Given the description of an element on the screen output the (x, y) to click on. 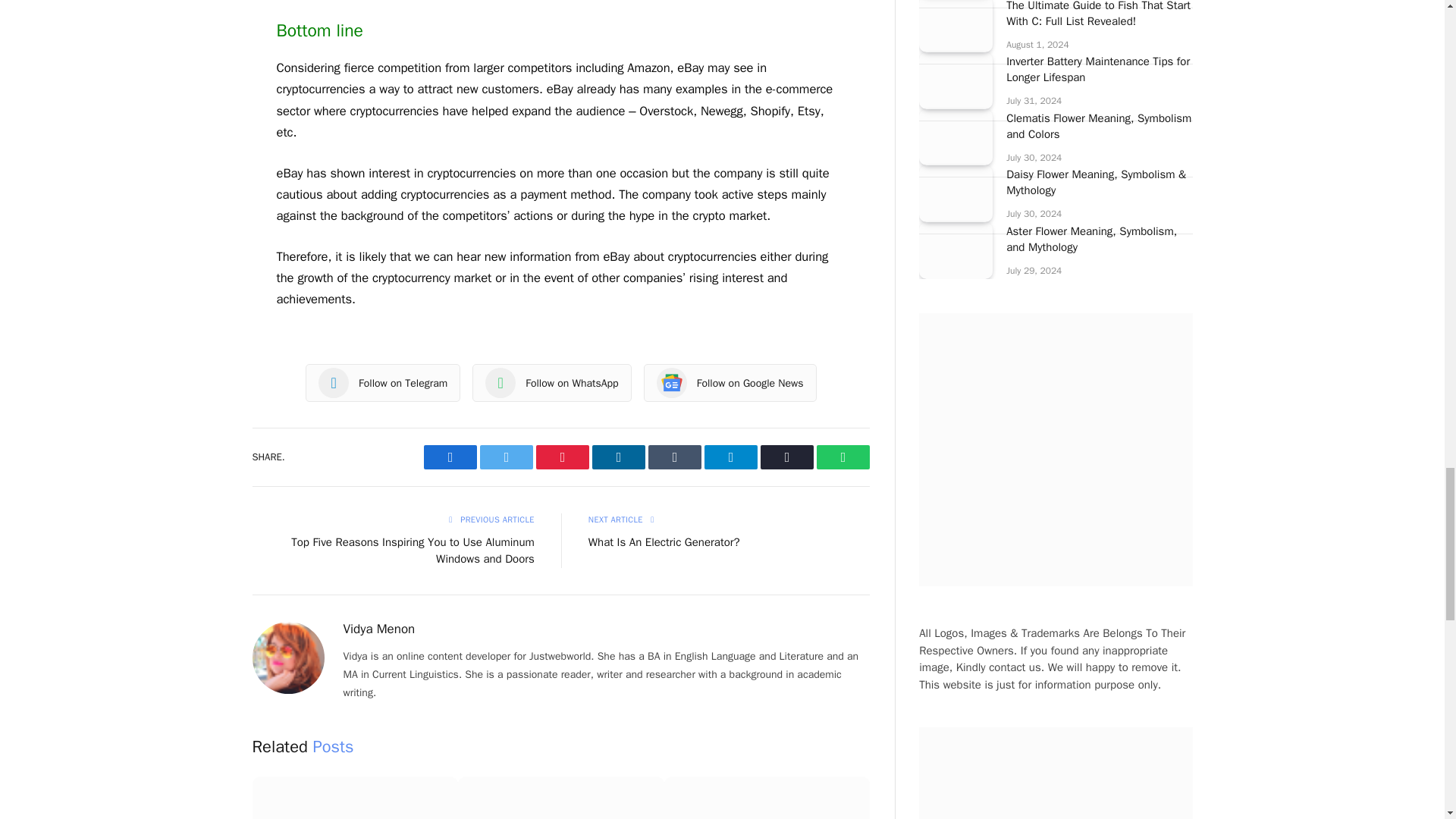
Share on Facebook (450, 457)
